Given the description of an element on the screen output the (x, y) to click on. 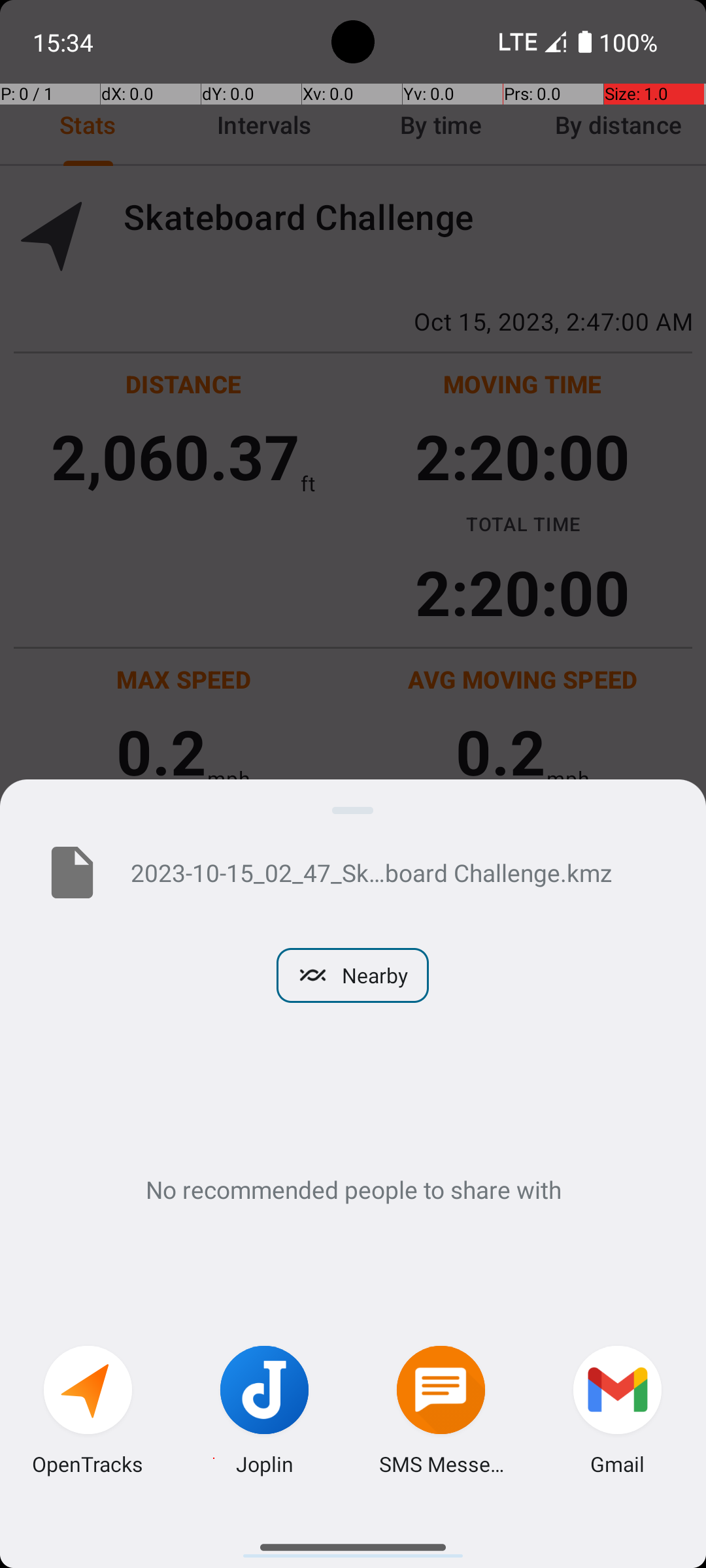
2023-10-15_02_47_Skateboard Challenge.kmz Element type: android.widget.TextView (397, 872)
